Given the description of an element on the screen output the (x, y) to click on. 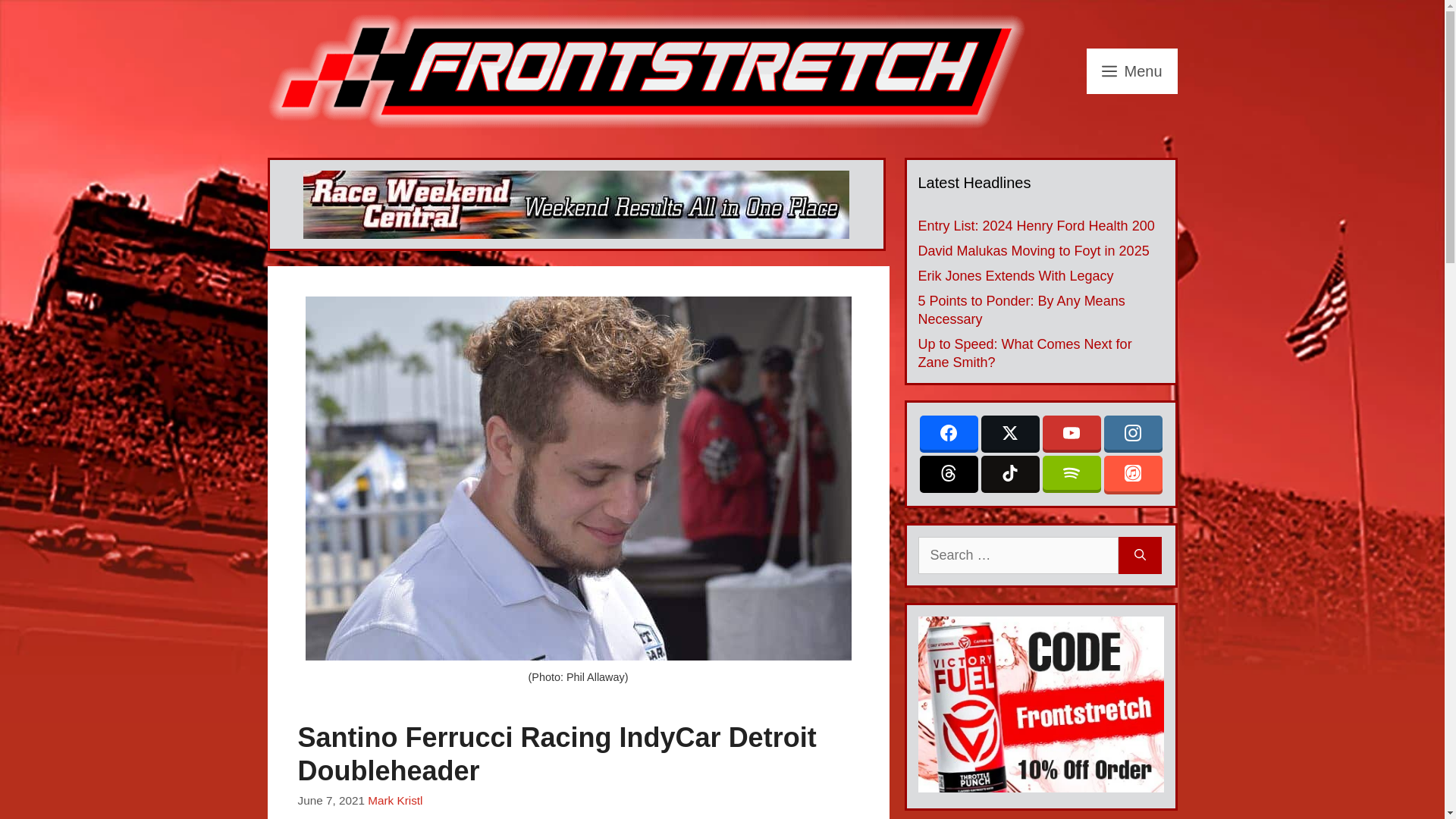
Menu (1131, 71)
Search for: (1017, 555)
Mark Kristl (395, 799)
